Given the description of an element on the screen output the (x, y) to click on. 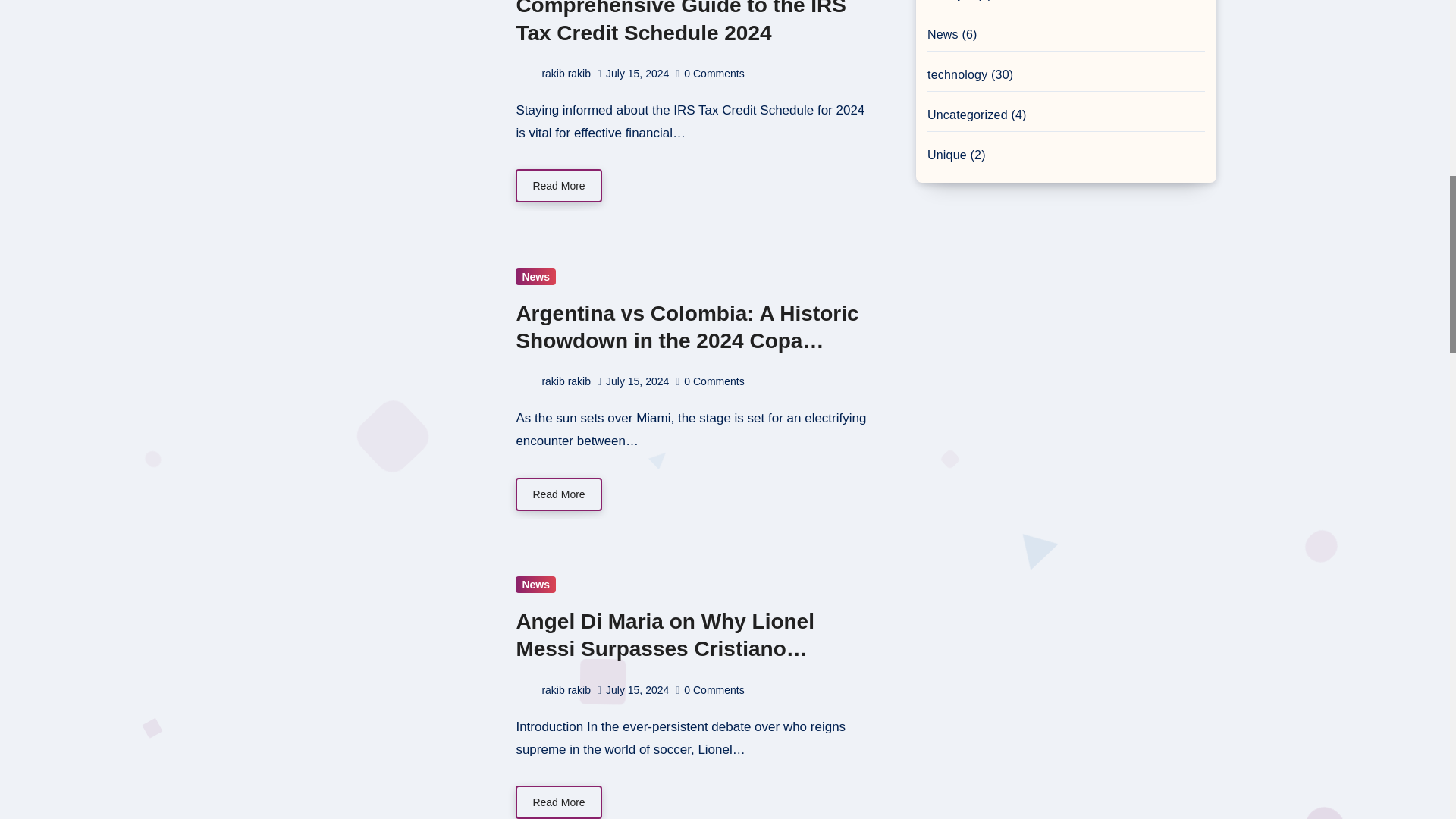
rakib rakib (553, 73)
Comprehensive Guide to the IRS Tax Credit Schedule 2024 (680, 22)
0 Comments (714, 381)
rakib rakib (553, 381)
Read More (558, 185)
0 Comments (714, 73)
July 15, 2024 (636, 73)
July 15, 2024 (636, 381)
News (535, 276)
